Given the description of an element on the screen output the (x, y) to click on. 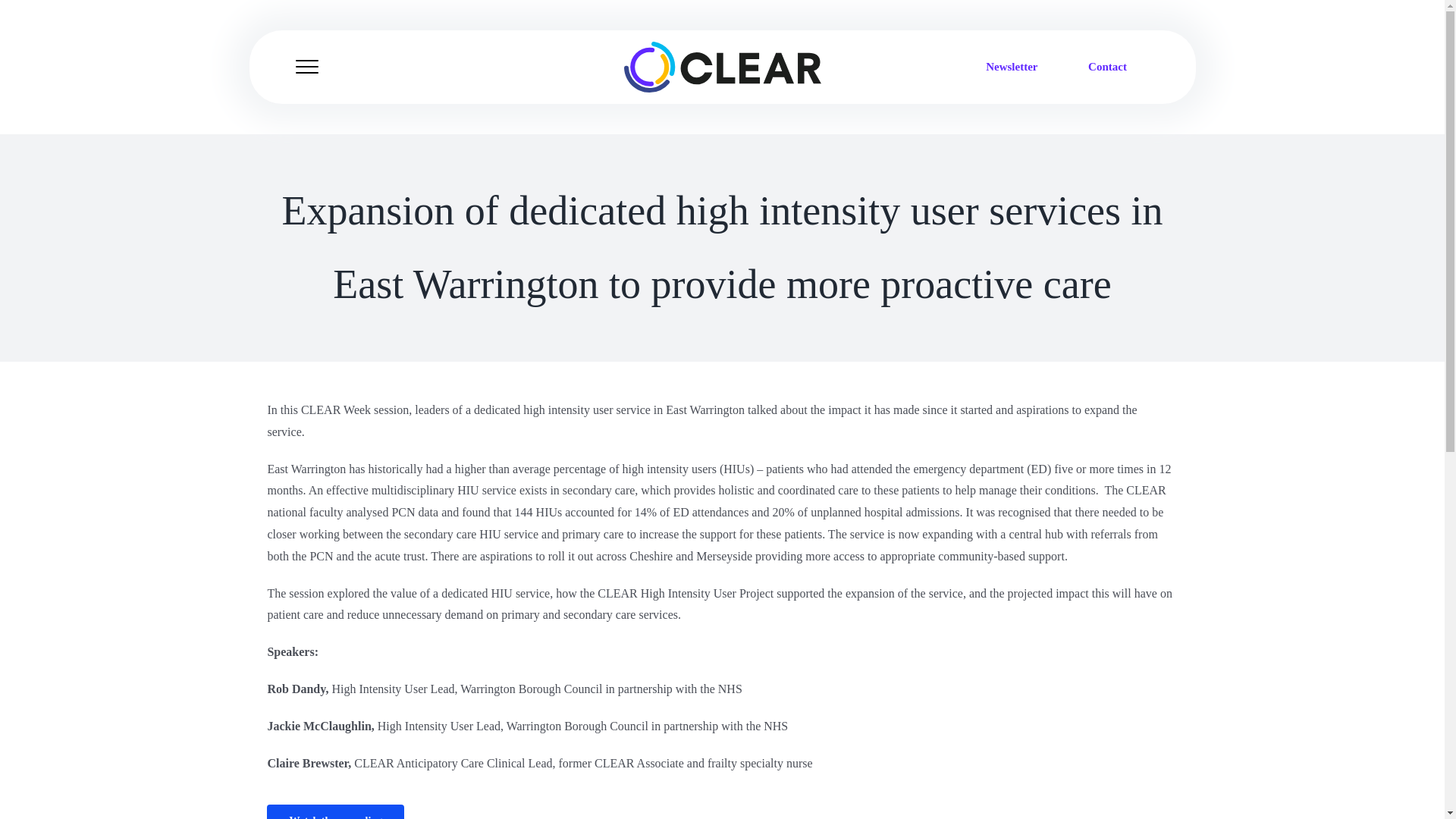
Contact (1106, 66)
Watch the recording (335, 811)
Newsletter (1010, 66)
Watch the recording (721, 811)
